Given the description of an element on the screen output the (x, y) to click on. 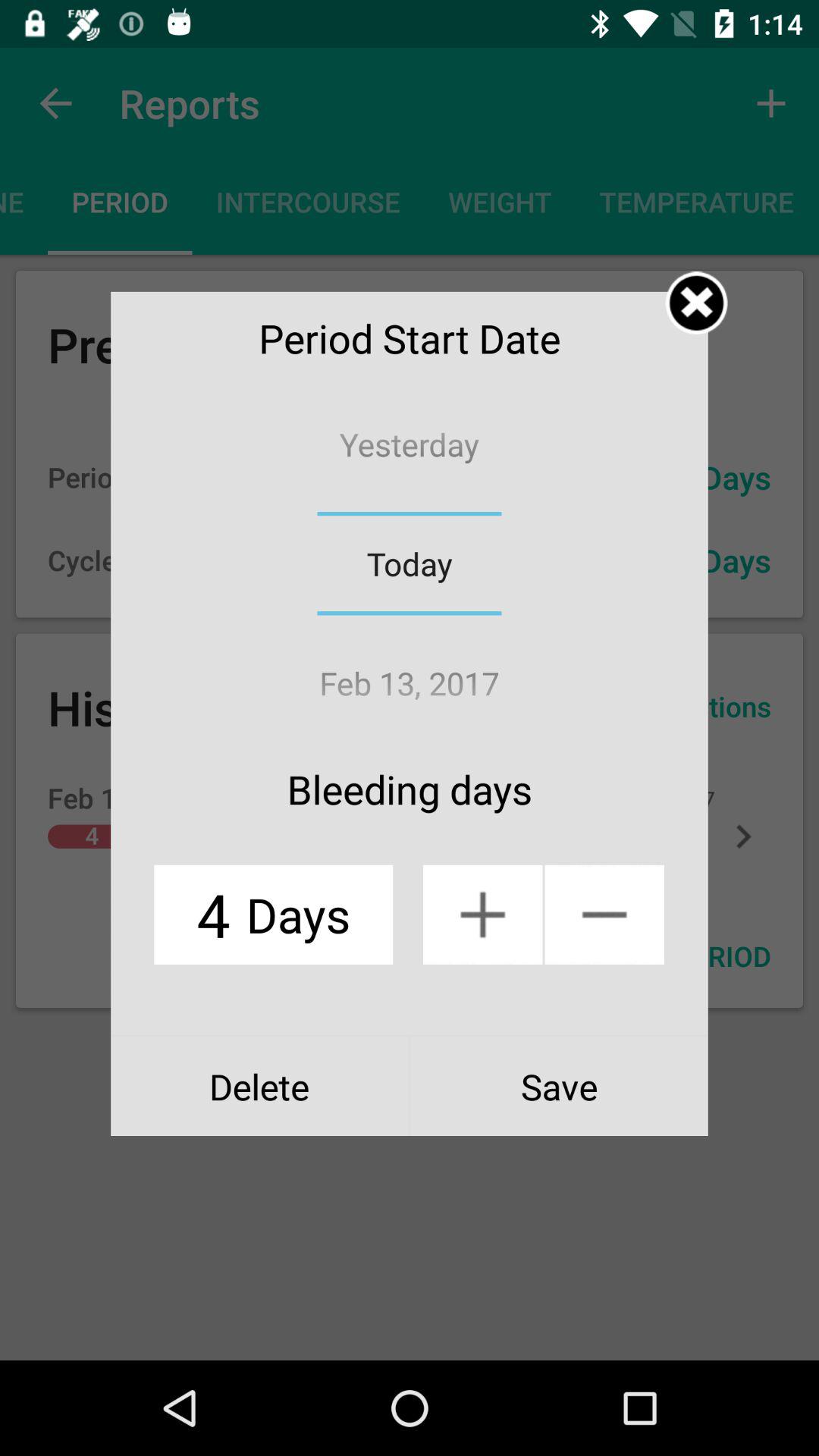
close window (696, 302)
